Given the description of an element on the screen output the (x, y) to click on. 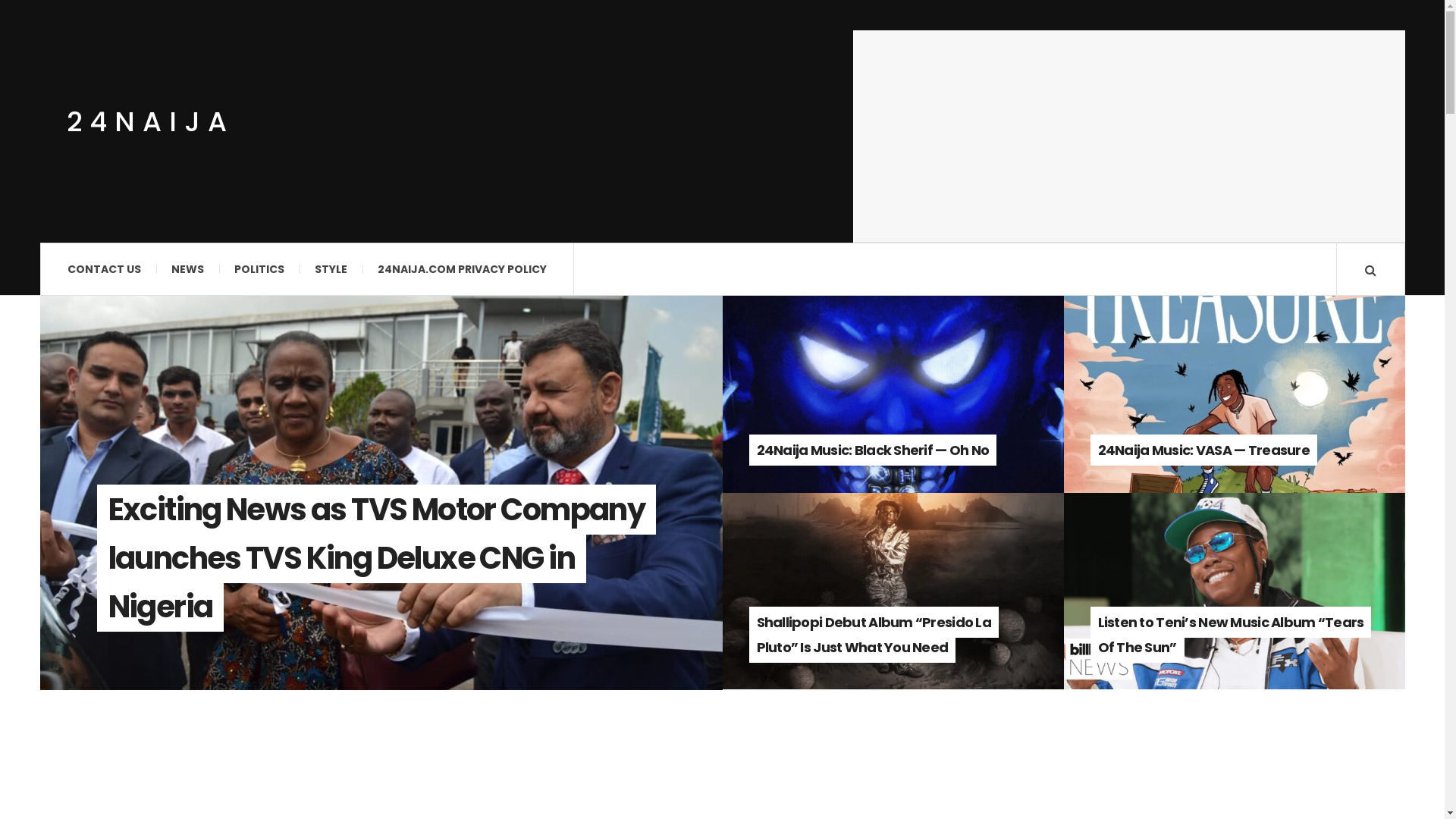
NEWS Element type: text (187, 268)
Advertisement Element type: hover (1128, 136)
24NAIJA Element type: text (150, 120)
24NAIJA.COM PRIVACY POLICY Element type: text (461, 268)
STYLE Element type: text (329, 268)
POLITICS Element type: text (258, 268)
CONTACT US Element type: text (103, 268)
